Given the description of an element on the screen output the (x, y) to click on. 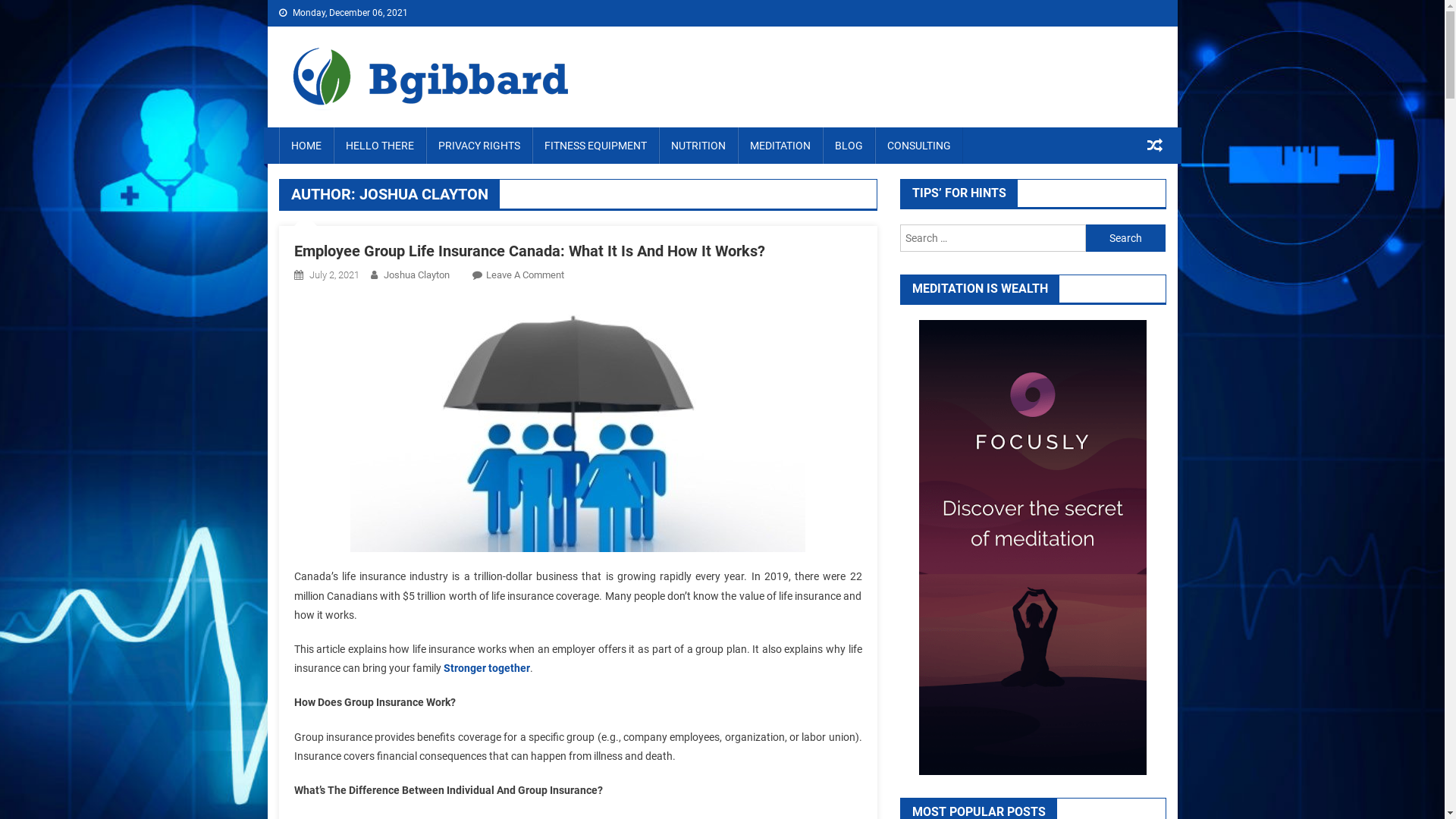
CONSULTING Element type: text (919, 145)
HOME Element type: text (306, 145)
Skip to content Element type: text (35, 9)
PRIVACY RIGHTS Element type: text (479, 145)
Search Element type: text (1125, 237)
Joshua Clayton Element type: text (416, 274)
HELLO THERE Element type: text (379, 145)
FITNESS EQUIPMENT Element type: text (595, 145)
Stronger together Element type: text (485, 668)
BLOG Element type: text (848, 145)
NUTRITION Element type: text (697, 145)
July 2, 2021 Element type: text (334, 274)
MEDITATION Element type: text (779, 145)
